Given the description of an element on the screen output the (x, y) to click on. 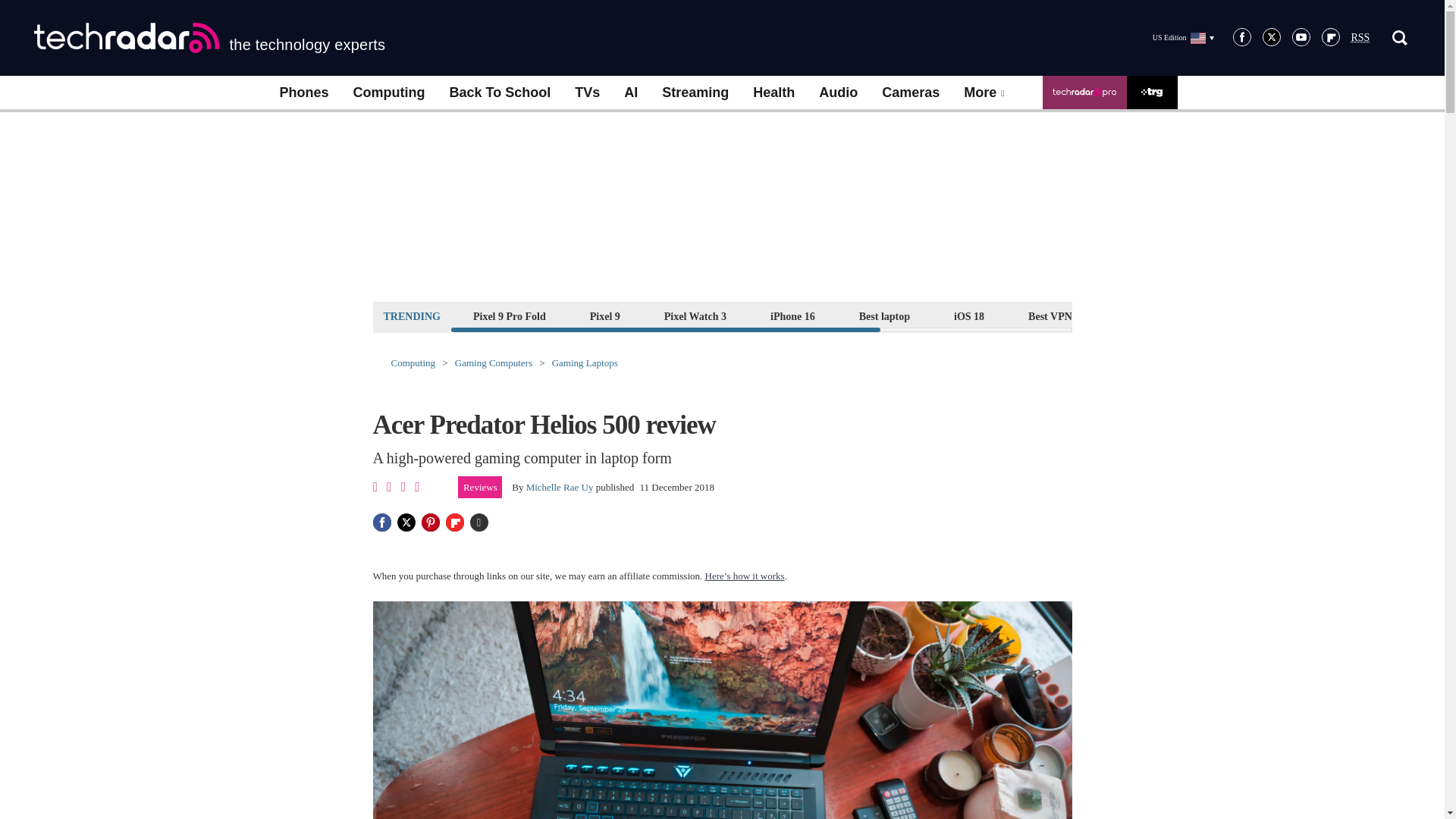
Streaming (695, 92)
TVs (586, 92)
Cameras (910, 92)
Really Simple Syndication (1360, 37)
Phones (303, 92)
Audio (837, 92)
Computing (389, 92)
the technology experts (209, 38)
US Edition (1182, 37)
Health (773, 92)
